Given the description of an element on the screen output the (x, y) to click on. 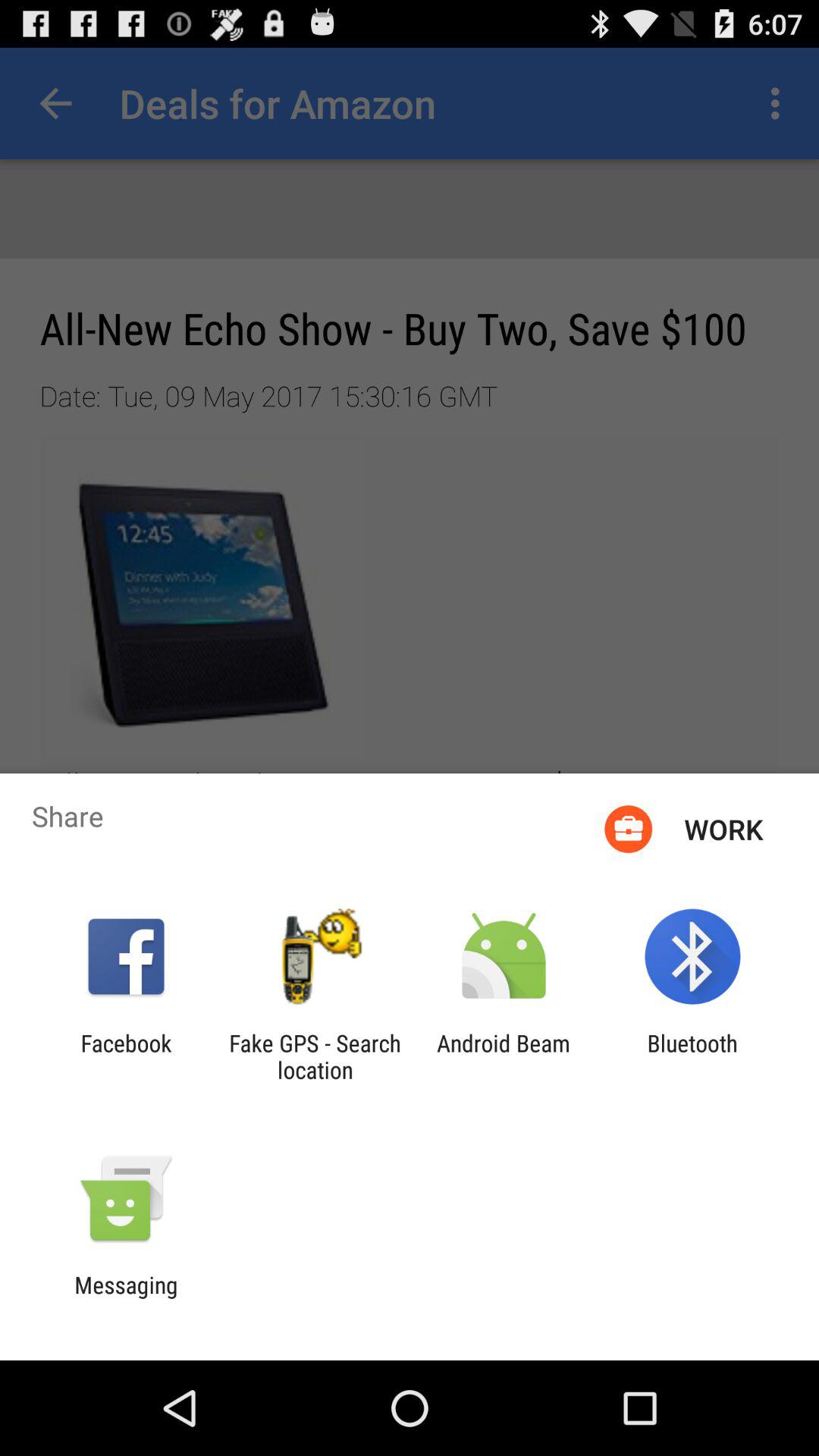
launch app next to the bluetooth app (503, 1056)
